Given the description of an element on the screen output the (x, y) to click on. 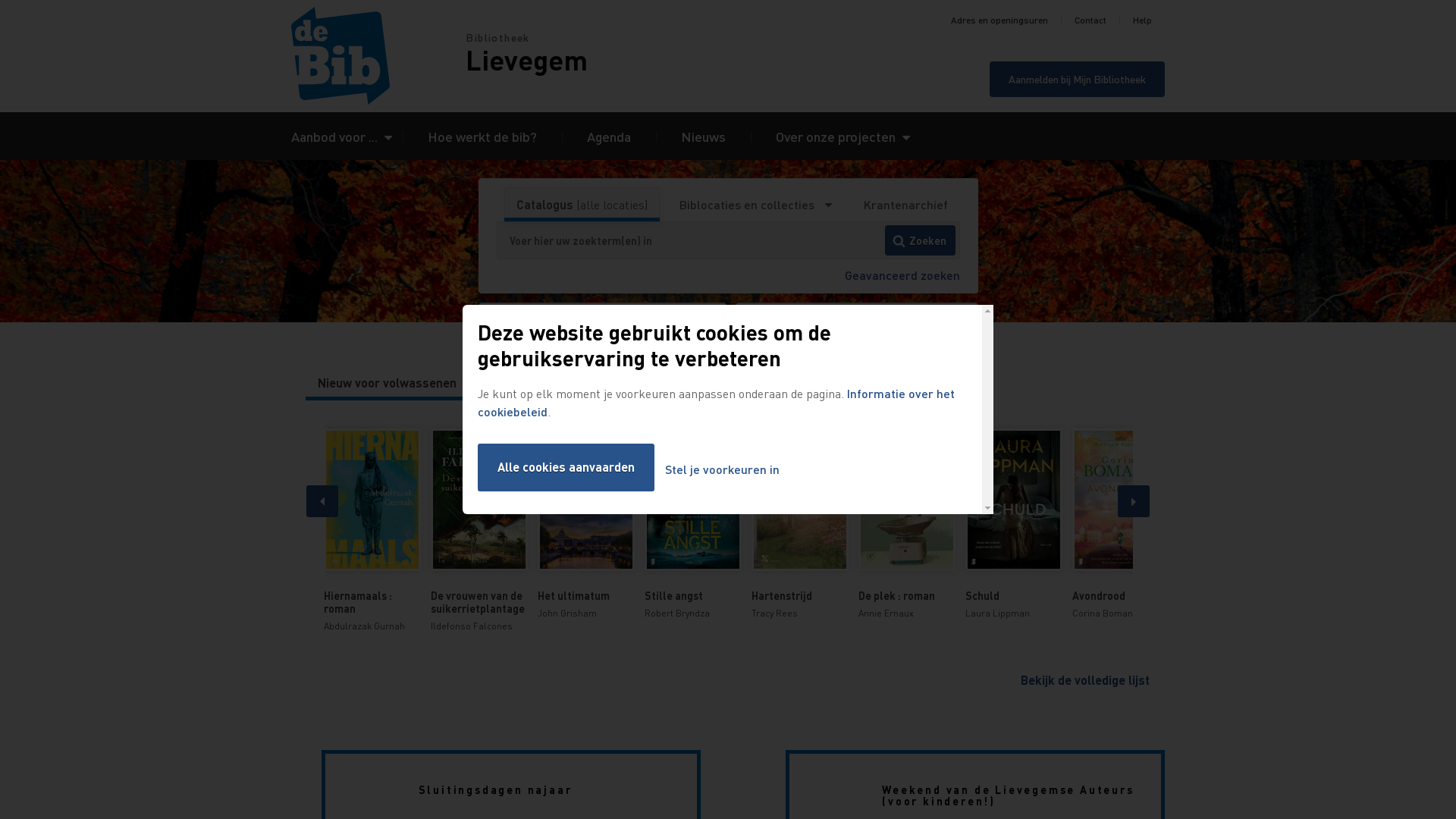
Geavanceerd zoeken Element type: text (902, 274)
Adres en openingsuren Element type: text (999, 20)
Overslaan en naar zoeken gaan Element type: text (0, 0)
Zoeken Element type: text (919, 240)
Stille angst
Robert Bryndza Element type: text (692, 524)
Nieuwe DVD's Element type: text (751, 382)
Nieuw voor kinderen Element type: text (535, 382)
Het ultimatum
John Grisham Element type: text (584, 524)
Home Element type: hover (378, 55)
Informatie over het cookiebeleid Element type: text (715, 402)
De vrouwen van de suikerrietplantage
Ildefonso Falcones Element type: text (478, 530)
Agenda Element type: text (608, 136)
Hoe werkt de bib? Element type: text (481, 136)
Catalogus (alle locaties) Element type: text (581, 204)
Krantenarchief Element type: text (905, 204)
Hiernamaals : roman
Abdulrazak Gurnah Element type: text (371, 530)
Aanmelden bij Mijn Bibliotheek Element type: text (1076, 79)
Help Element type: text (1141, 20)
De plek : roman
Annie Ernaux Element type: text (906, 524)
Nieuwe strips Element type: text (653, 382)
Uitleentermijn verlengen Element type: text (601, 321)
Nieuw voor volwassenen Element type: text (386, 382)
Biblocaties en collecties Element type: text (754, 204)
Alle cookies aanvaarden Element type: text (565, 466)
Stel je voorkeuren in Element type: text (722, 469)
Contact Element type: text (1090, 20)
Bekijk de volledige lijst Element type: text (1084, 679)
Openingsuren opzoeken Element type: text (856, 321)
Schuld
Laura Lippman Element type: text (1012, 524)
Nieuws Element type: text (702, 136)
Hartenstrijd
Tracy Rees Element type: text (798, 524)
Avondrood
Corina Bomann Element type: text (1120, 524)
